Given the description of an element on the screen output the (x, y) to click on. 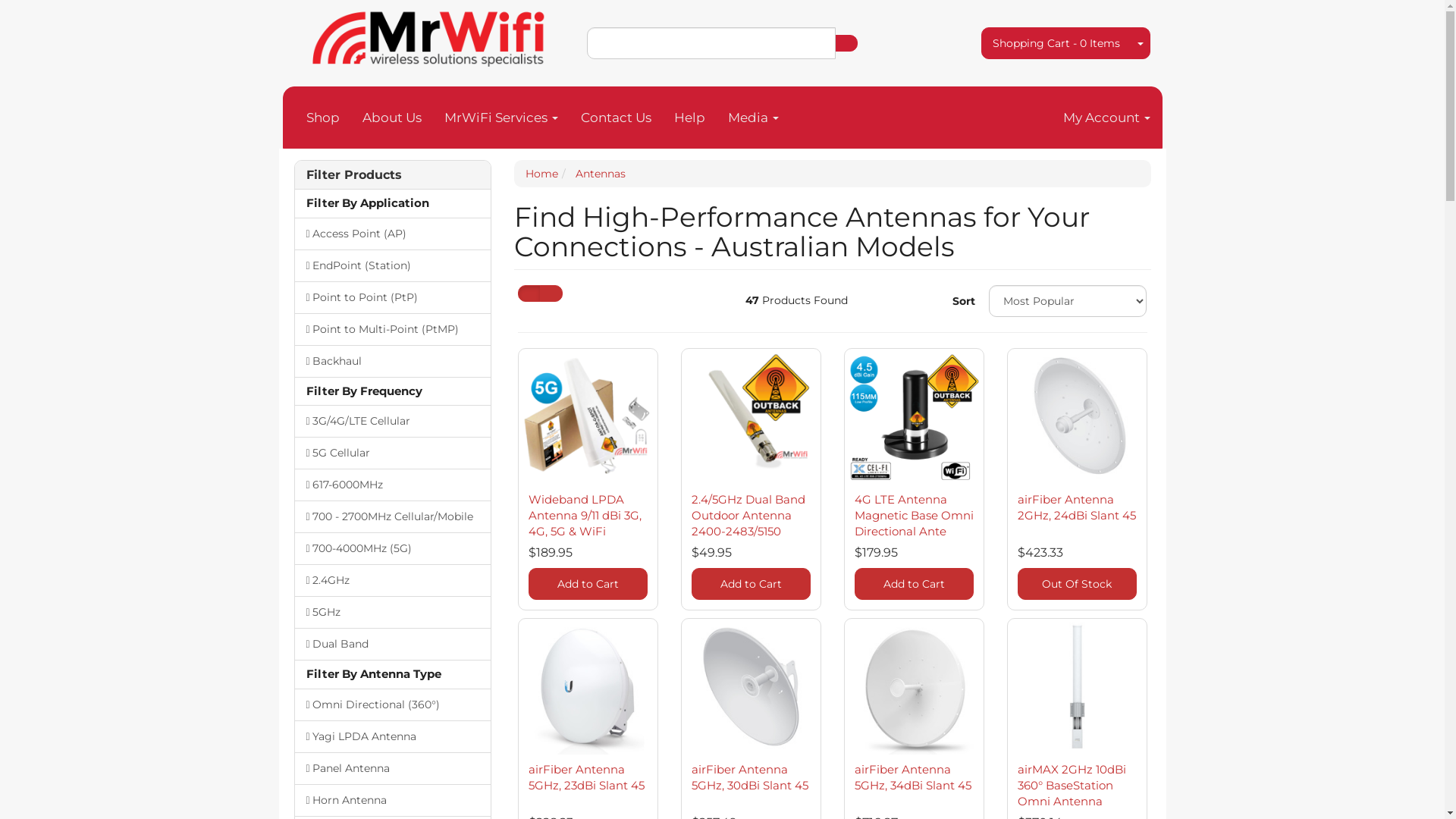
5GHz Element type: text (391, 611)
Out Of Stock Element type: text (1076, 583)
airFiber Antenna 5GHz, 23dBi Slant 45 Element type: text (585, 777)
Add to Cart Element type: text (912, 583)
4G LTE Antenna Magnetic Base Omni Directional Ante Element type: text (912, 515)
airFiber Antenna 5GHz, 30dBi Slant 45 Element type: text (749, 777)
2.4GHz Element type: text (391, 580)
MrWiFi Services Element type: text (500, 117)
5G Cellular Element type: text (391, 452)
MrWiFi Element type: hover (429, 34)
Yagi LPDA Antenna Element type: text (391, 736)
Shop Element type: text (322, 117)
Media Element type: text (752, 117)
2.4/5GHz Dual Band Outdoor Antenna 2400-2483/5150 Element type: text (748, 515)
Point to Multi-Point (PtMP) Element type: text (391, 329)
Backhaul Element type: text (391, 360)
Dual Band Element type: text (391, 643)
700-4000MHz (5G) Element type: text (391, 548)
EndPoint (Station) Element type: text (391, 265)
3G/4G/LTE Cellular Element type: text (391, 420)
Add to Cart Element type: text (586, 583)
Home Element type: text (540, 173)
617-6000MHz Element type: text (391, 484)
Horn Antenna Element type: text (391, 799)
Shopping Cart - 0 Items Element type: text (1056, 43)
Access Point (AP) Element type: text (391, 233)
Wideband LPDA Antenna 9/11 dBi 3G, 4G, 5G & WiFi Element type: text (583, 515)
My Account Element type: text (1106, 117)
Add to Cart Element type: text (750, 583)
Panel Antenna Element type: text (391, 768)
About Us Element type: text (391, 117)
700 - 2700MHz Cellular/Mobile Element type: text (391, 516)
airFiber Antenna 5GHz, 34dBi Slant 45 Element type: text (911, 777)
Help Element type: text (689, 117)
Contact Us Element type: text (615, 117)
Point to Point (PtP) Element type: text (391, 297)
airFiber Antenna 2GHz, 24dBi Slant 45 Element type: text (1076, 507)
Filter Products Element type: text (392, 175)
Antennas Element type: text (599, 173)
Search Element type: text (845, 42)
